Given the description of an element on the screen output the (x, y) to click on. 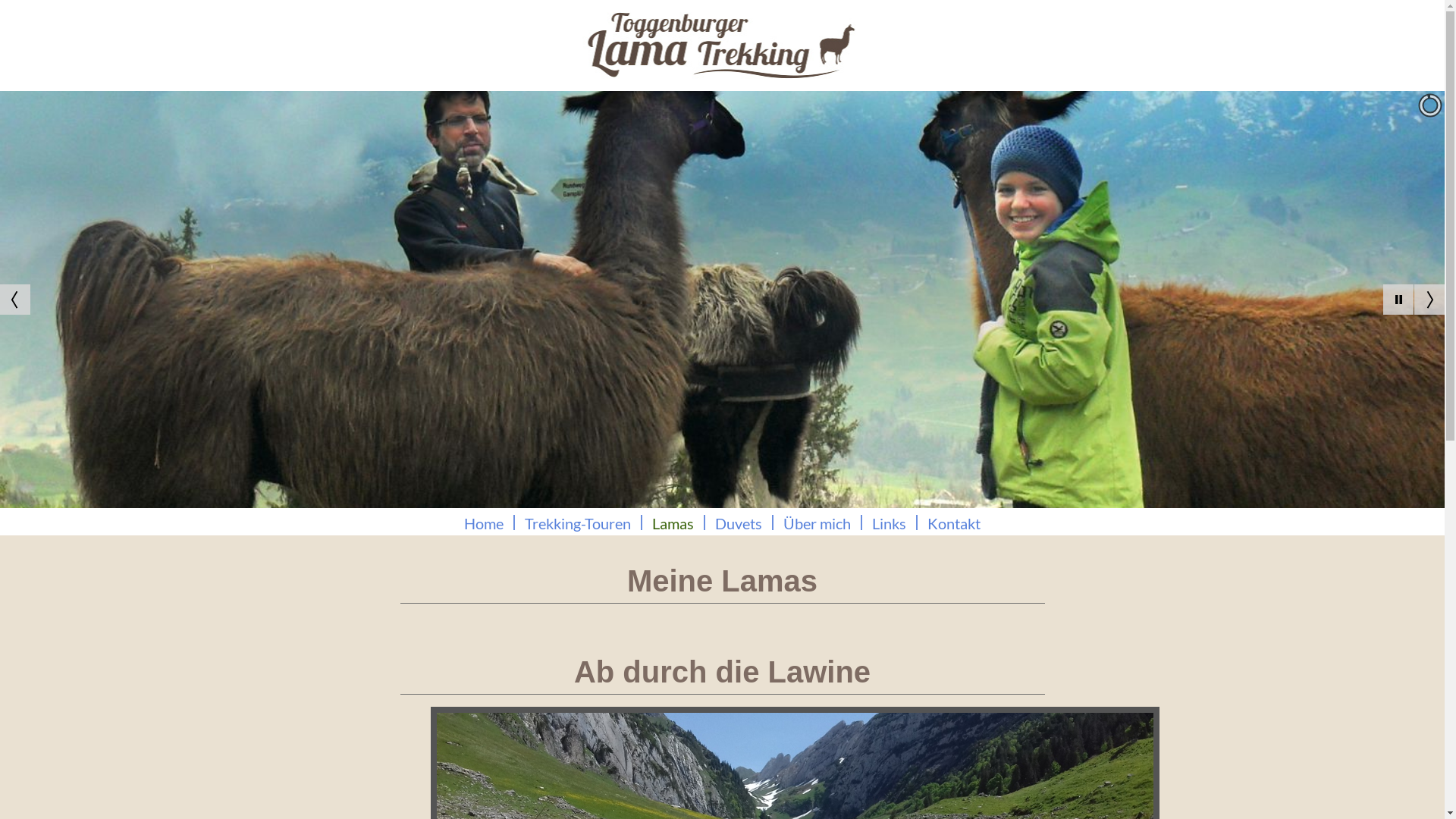
Lamas Element type: text (672, 522)
Home Element type: text (483, 522)
Kontakt Element type: text (953, 522)
Links Element type: text (888, 522)
Duvets Element type: text (738, 522)
Trekking-Touren Element type: text (577, 522)
Ab durch die Lawine Element type: text (722, 671)
